Given the description of an element on the screen output the (x, y) to click on. 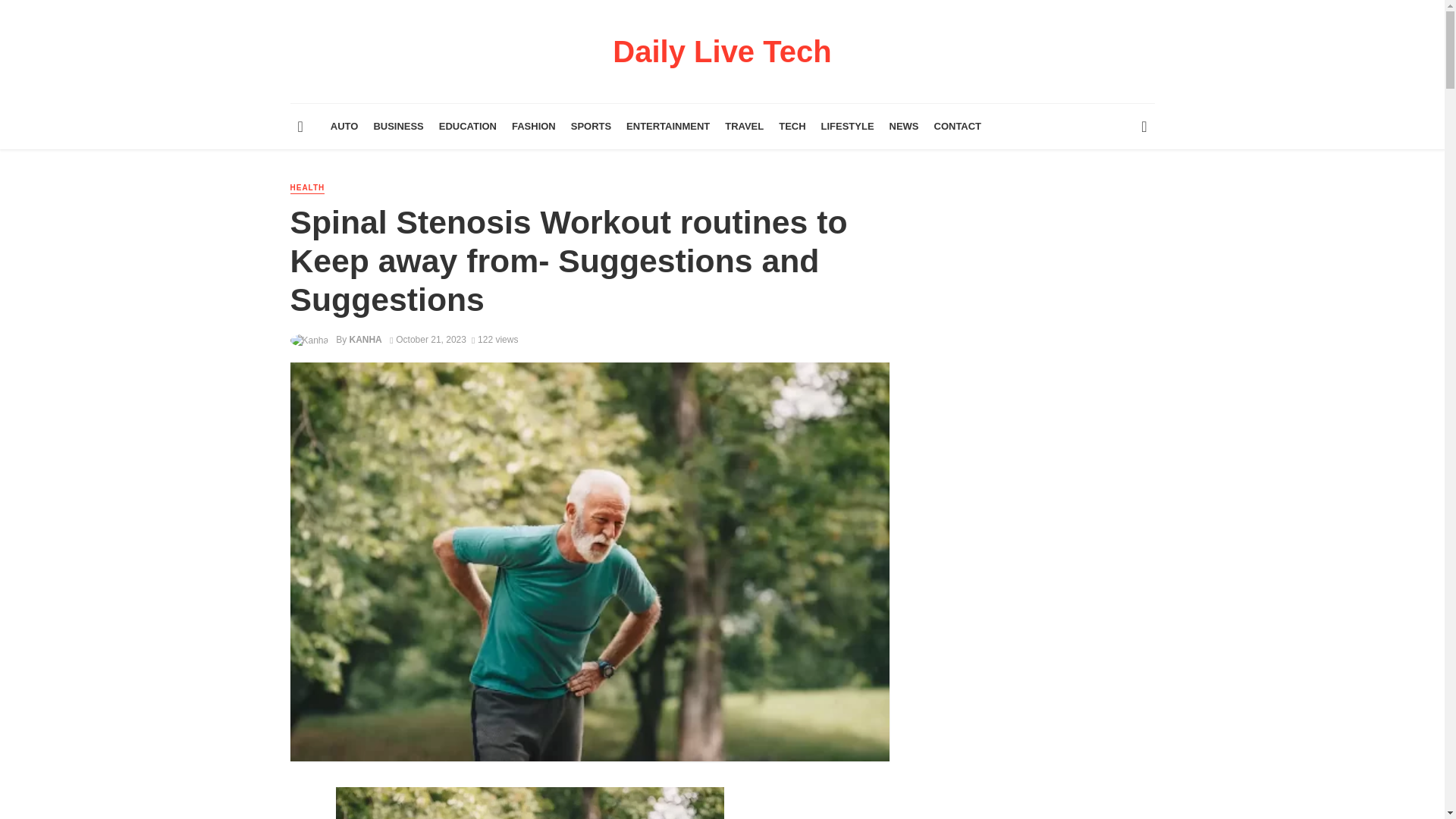
October 21, 2023 at 6:42 pm (427, 339)
NEWS (904, 126)
BUSINESS (397, 126)
CONTACT (958, 126)
HEALTH (306, 188)
EDUCATION (466, 126)
ENTERTAINMENT (667, 126)
Posts by Kanha (365, 339)
AUTO (344, 126)
TRAVEL (744, 126)
KANHA (365, 339)
SPORTS (590, 126)
Spinal Stenosis (528, 803)
Daily Live Tech (721, 58)
FASHION (533, 126)
